Given the description of an element on the screen output the (x, y) to click on. 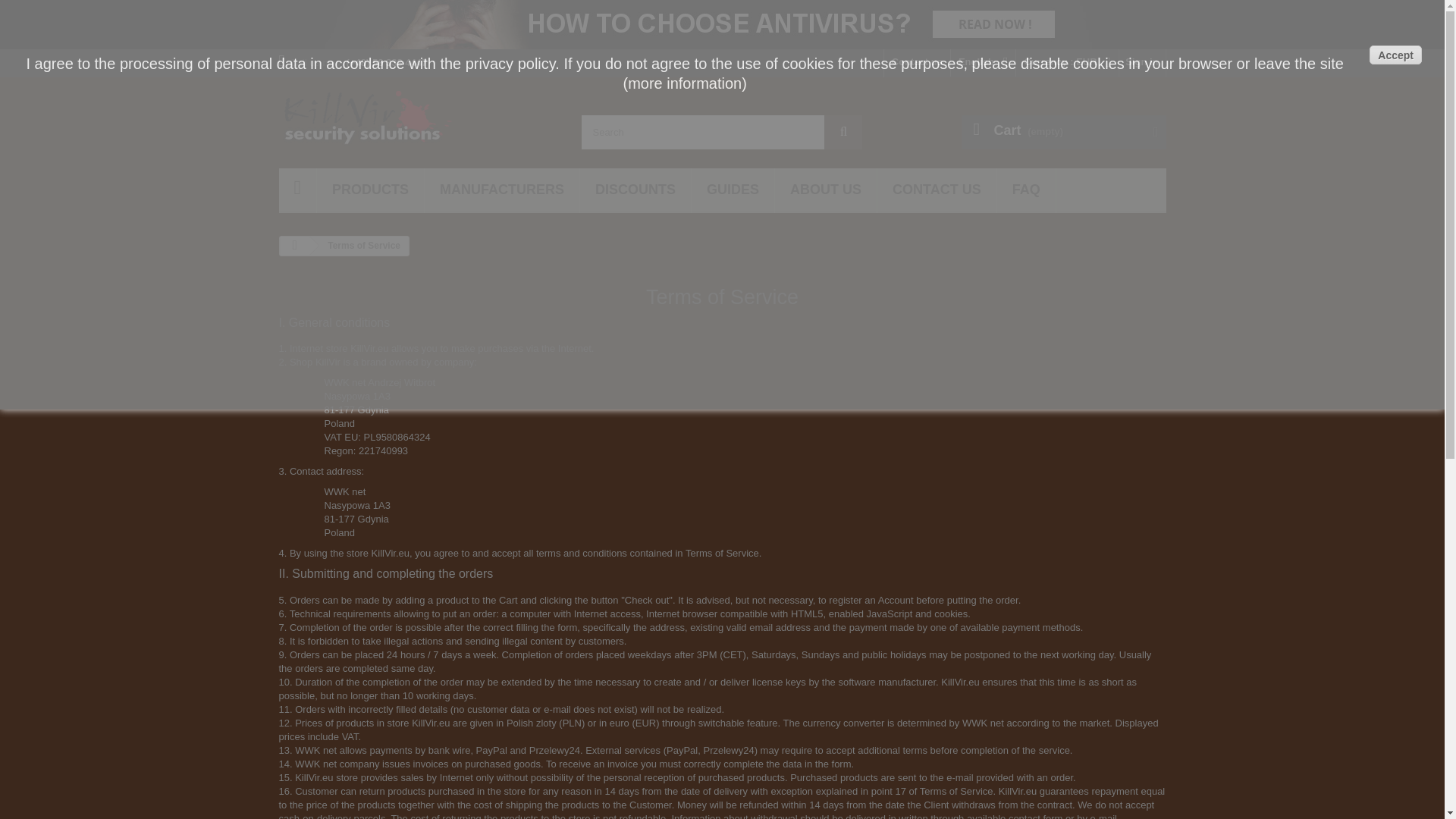
Products (370, 190)
Contact Us (916, 62)
Sign in (1141, 62)
How to choose the best antivirus solution? Read our guide! (722, 24)
PRODUCTS (370, 190)
Log in to your customer account (1141, 62)
View my shopping cart (1063, 132)
KillVir.eu (419, 116)
Contact us (916, 62)
MANUFACTURERS (502, 190)
